Given the description of an element on the screen output the (x, y) to click on. 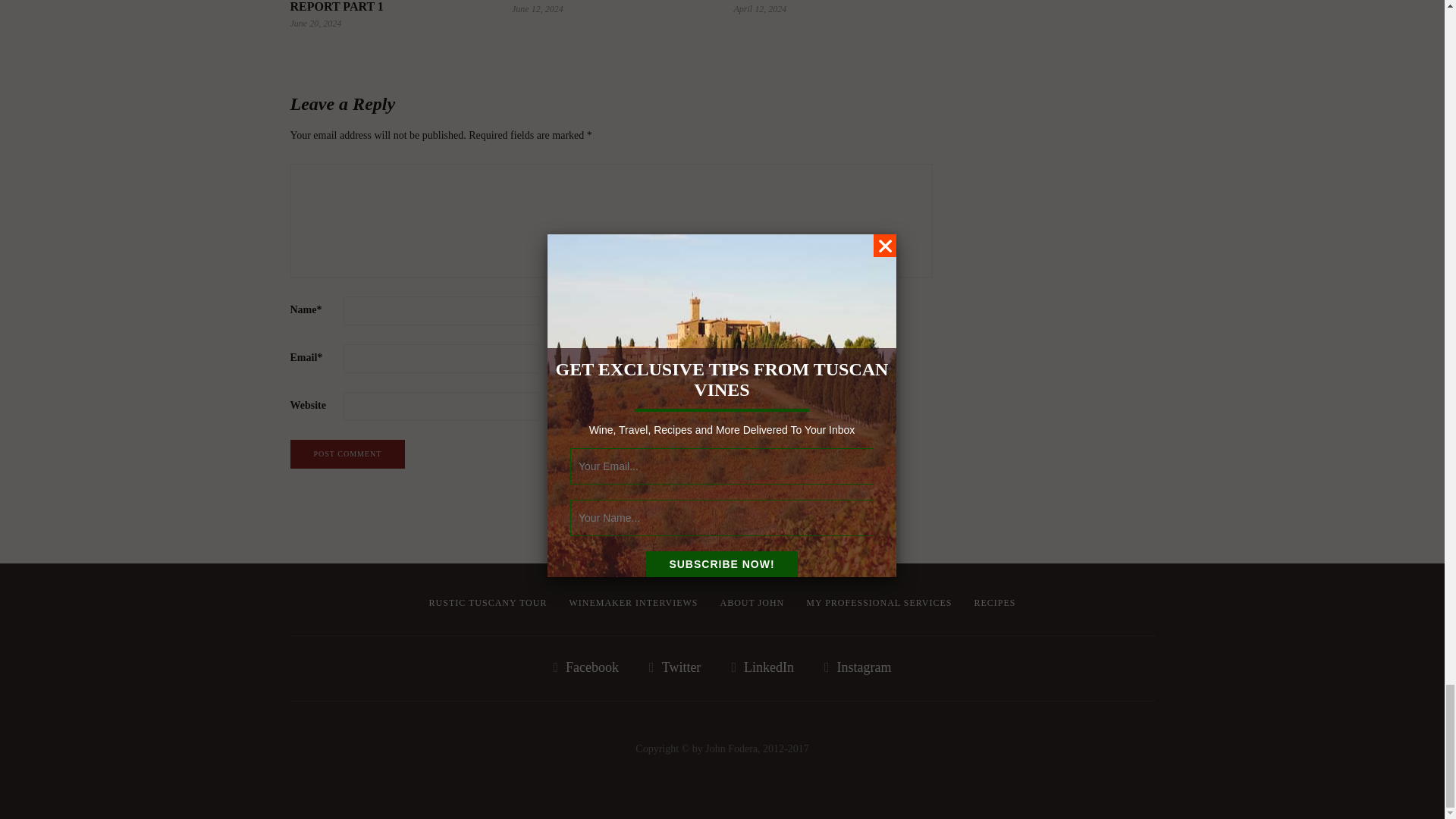
Post comment (346, 453)
